Given the description of an element on the screen output the (x, y) to click on. 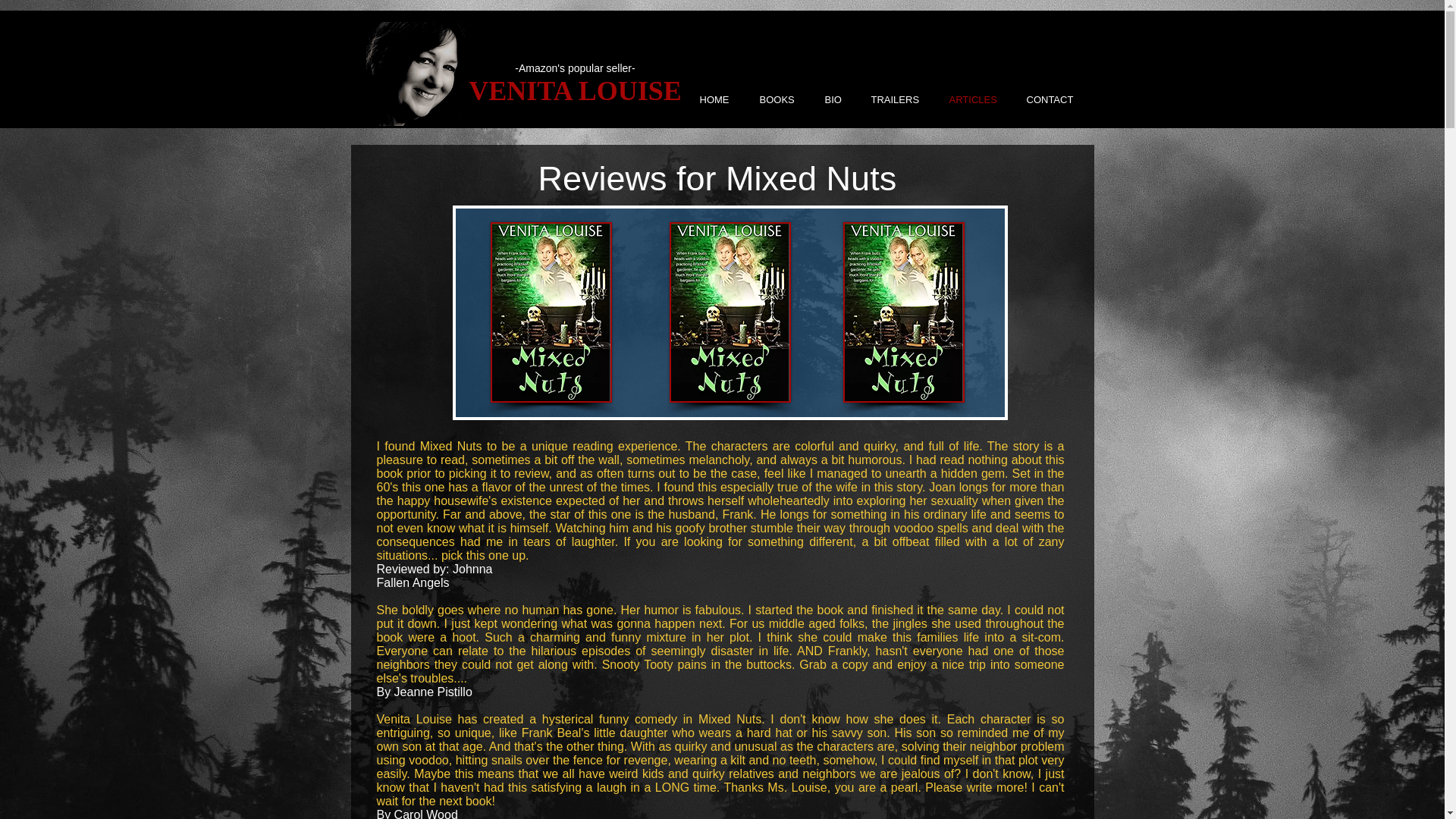
ARTICLES (978, 99)
BOOKS (783, 99)
CONTACT (1055, 99)
VENITA LOUISE (574, 91)
BIO (838, 99)
HOME (721, 99)
TRAILERS (901, 99)
